Given the description of an element on the screen output the (x, y) to click on. 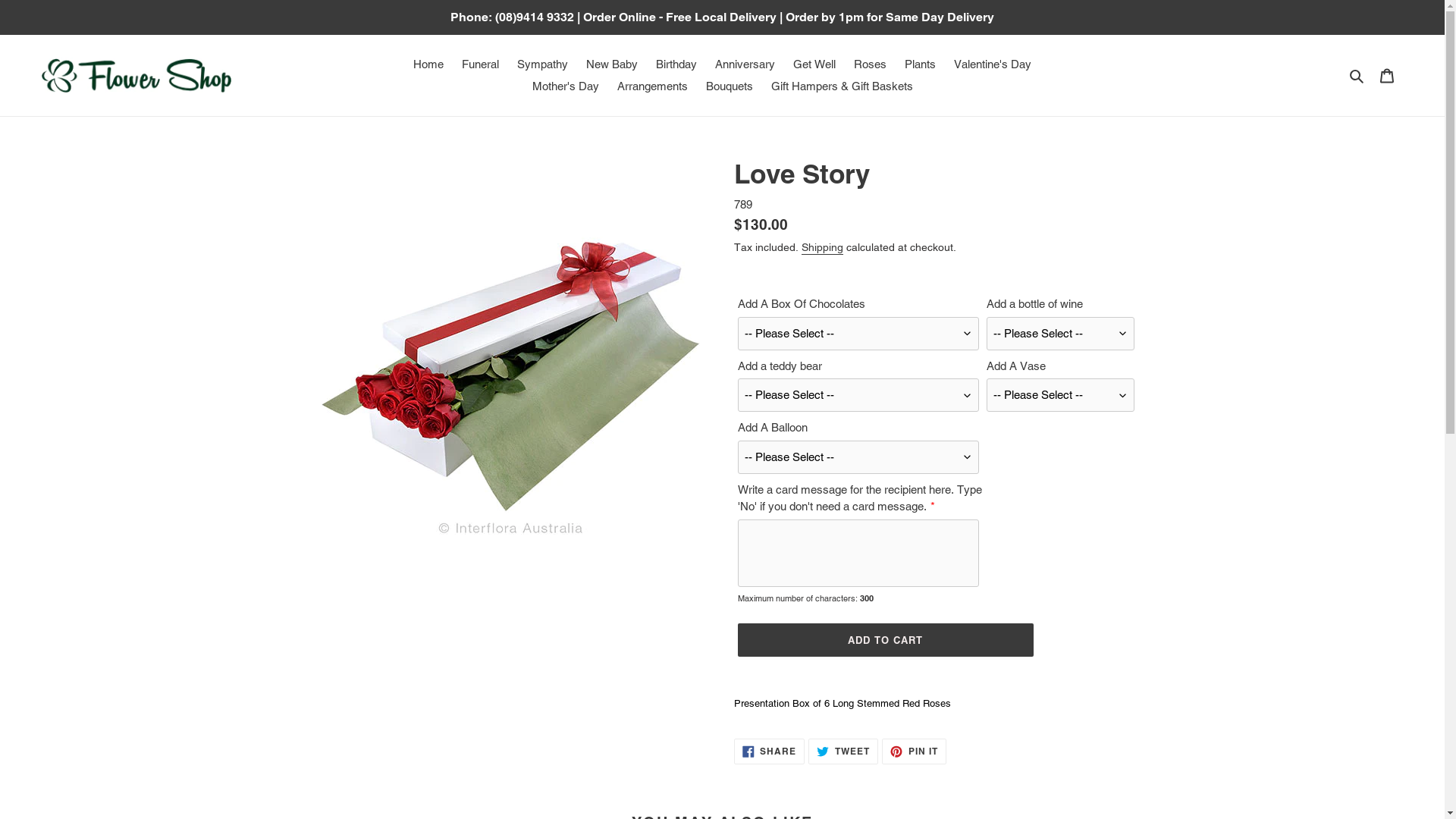
Shipping Element type: text (821, 247)
SHARE
SHARE ON FACEBOOK Element type: text (769, 751)
Search Element type: text (1357, 74)
ADD TO CART Element type: text (884, 639)
Plants Element type: text (920, 64)
Cart Element type: text (1386, 75)
Home Element type: text (428, 64)
Mother's Day Element type: text (565, 86)
Arrangements Element type: text (652, 86)
Anniversary Element type: text (744, 64)
Sympathy Element type: text (542, 64)
Funeral Element type: text (480, 64)
Roses Element type: text (870, 64)
Bouquets Element type: text (728, 86)
PIN IT
PIN ON PINTEREST Element type: text (913, 751)
Valentine's Day Element type: text (992, 64)
Birthday Element type: text (676, 64)
TWEET
TWEET ON TWITTER Element type: text (843, 751)
Get Well Element type: text (814, 64)
New Baby Element type: text (611, 64)
Gift Hampers & Gift Baskets Element type: text (840, 86)
